Given the description of an element on the screen output the (x, y) to click on. 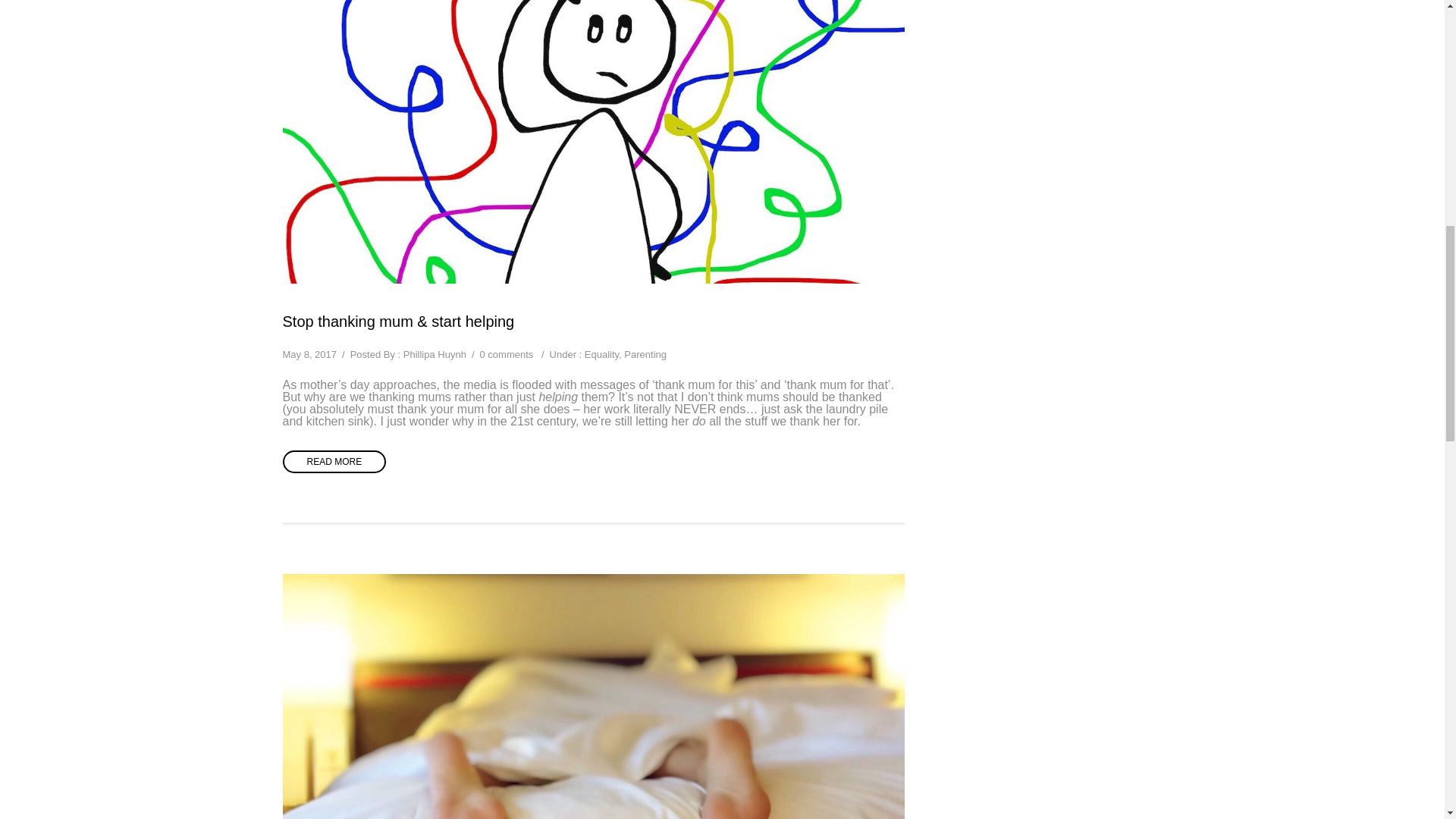
Parenting (645, 354)
0 comments (505, 354)
View all posts in Parenting (645, 354)
READ MORE (333, 461)
Equality (601, 354)
View all posts in Equality (601, 354)
